Given the description of an element on the screen output the (x, y) to click on. 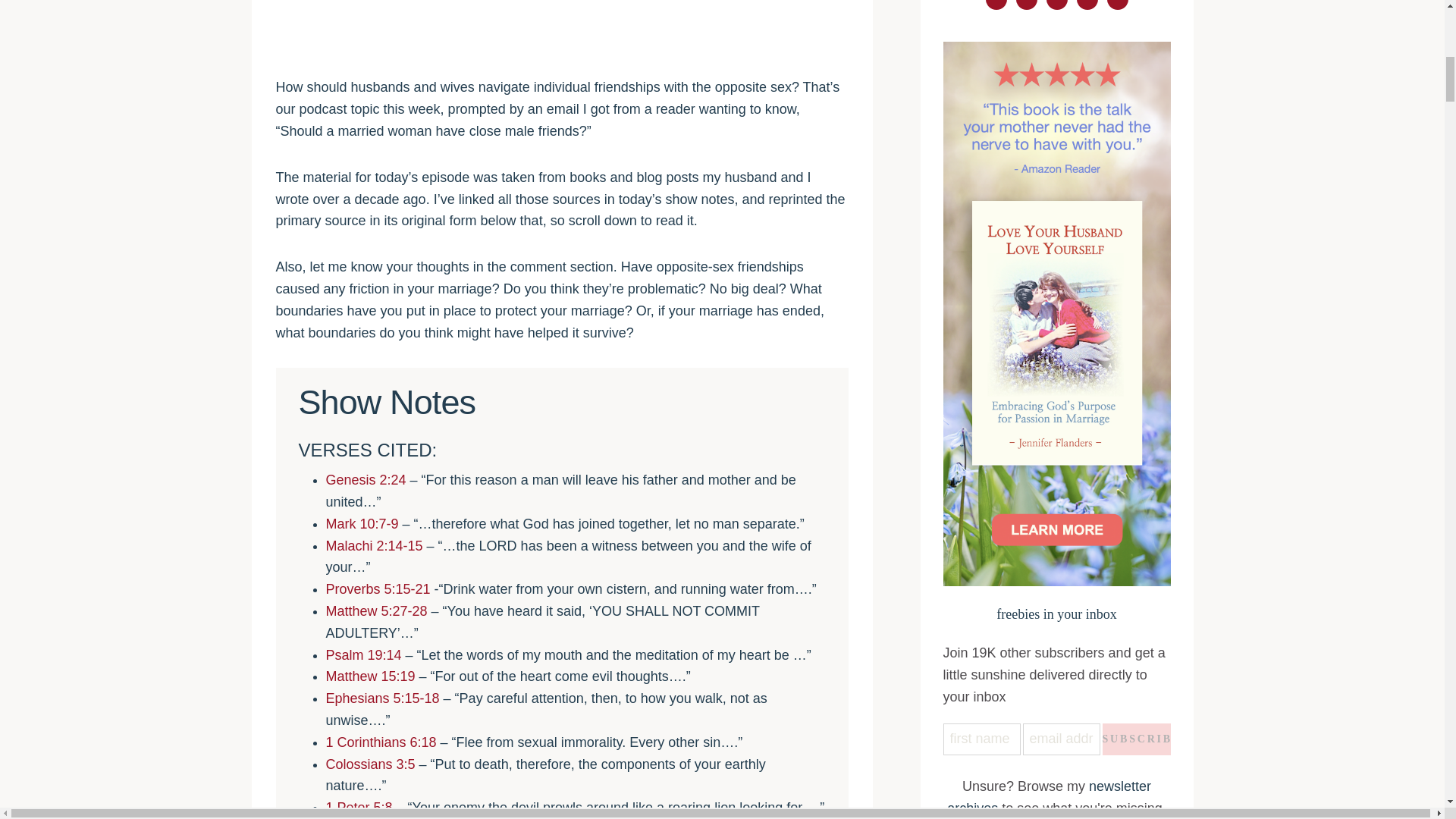
Ephesians 5:15-18 (382, 698)
Matthew 15:19 (370, 676)
Genesis 2:24 (366, 479)
Psalm 19:14 (363, 654)
1 Corinthians 6:18 (381, 742)
Malachi 2:14-15 (374, 545)
Matthew 5:27-28 (377, 611)
Mark 10:7-9 (362, 523)
EP 39 - Should a Married Woman Have Close Male Friends? (562, 35)
Proverbs 5:15-21 (378, 589)
Colossians 3:5 (370, 764)
